Given the description of an element on the screen output the (x, y) to click on. 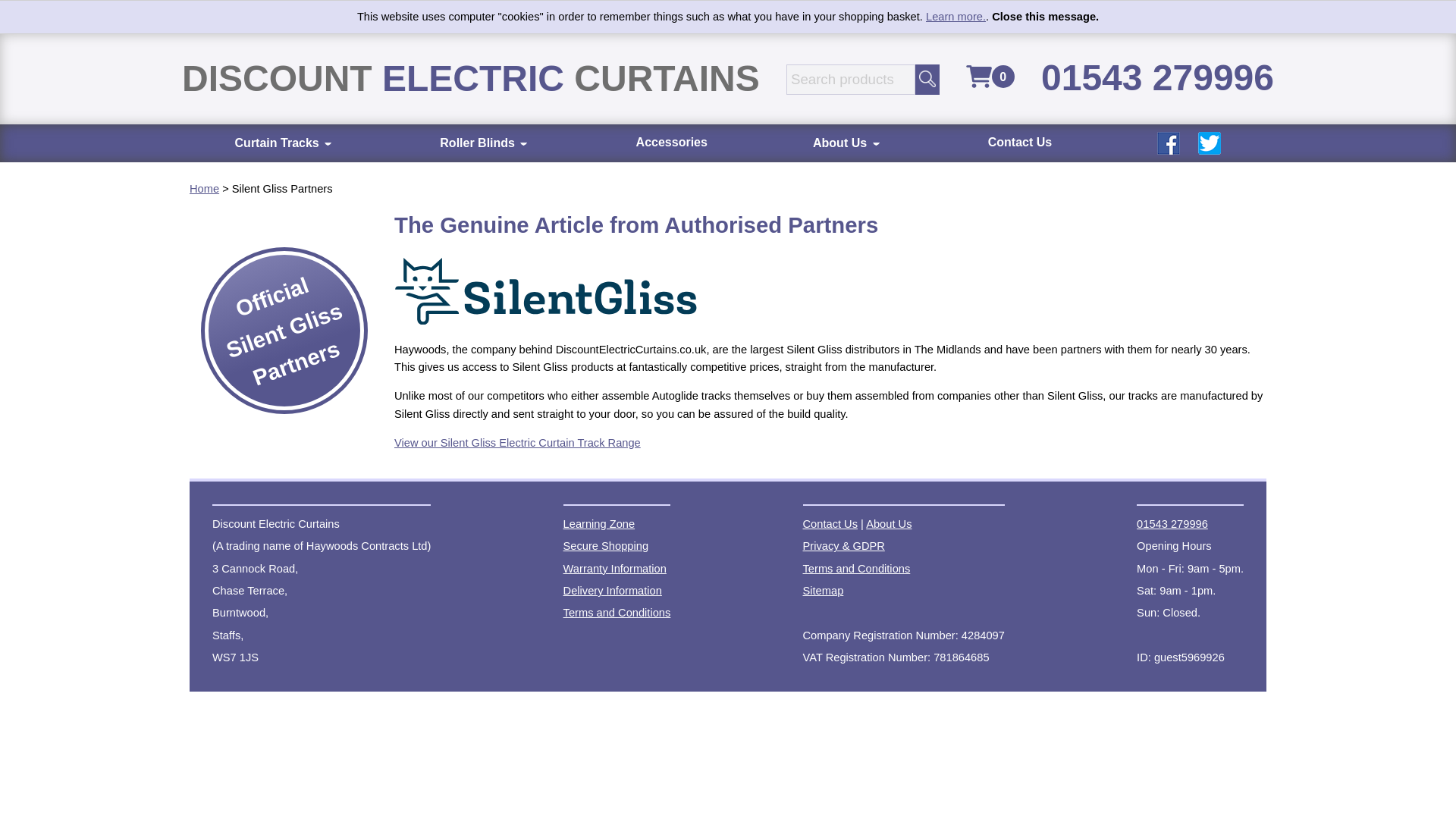
Learn more. (955, 16)
DISCOUNT ELECTRIC CURTAINS (471, 78)
Accessories (671, 142)
01543 279996 (1157, 78)
